Given the description of an element on the screen output the (x, y) to click on. 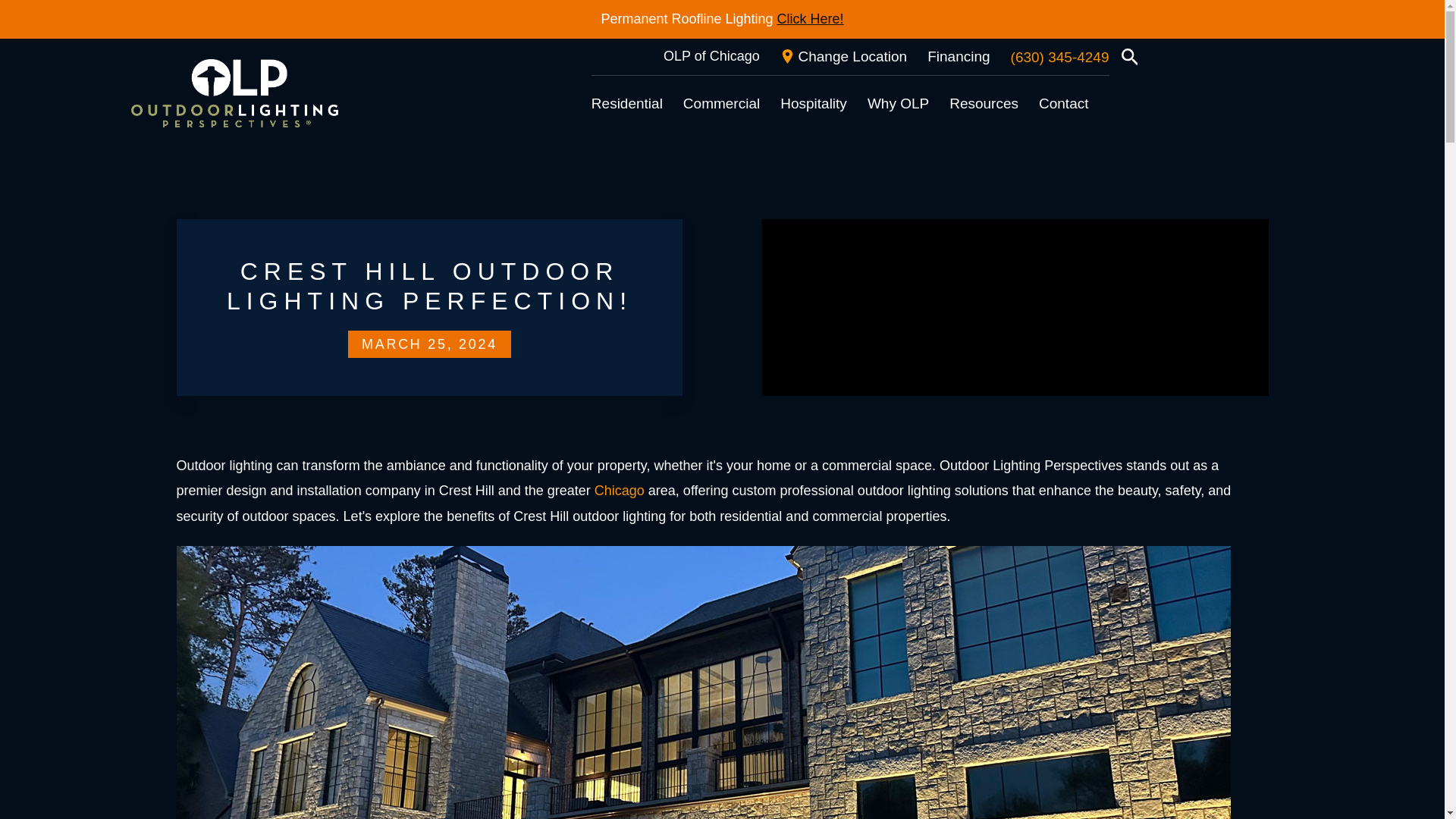
Change Location (843, 56)
Residential (626, 103)
Outdoor Lighting Perspectives (234, 92)
Commercial (721, 103)
Financing (958, 56)
Hospitality (813, 103)
Click Here! (810, 18)
